Given the description of an element on the screen output the (x, y) to click on. 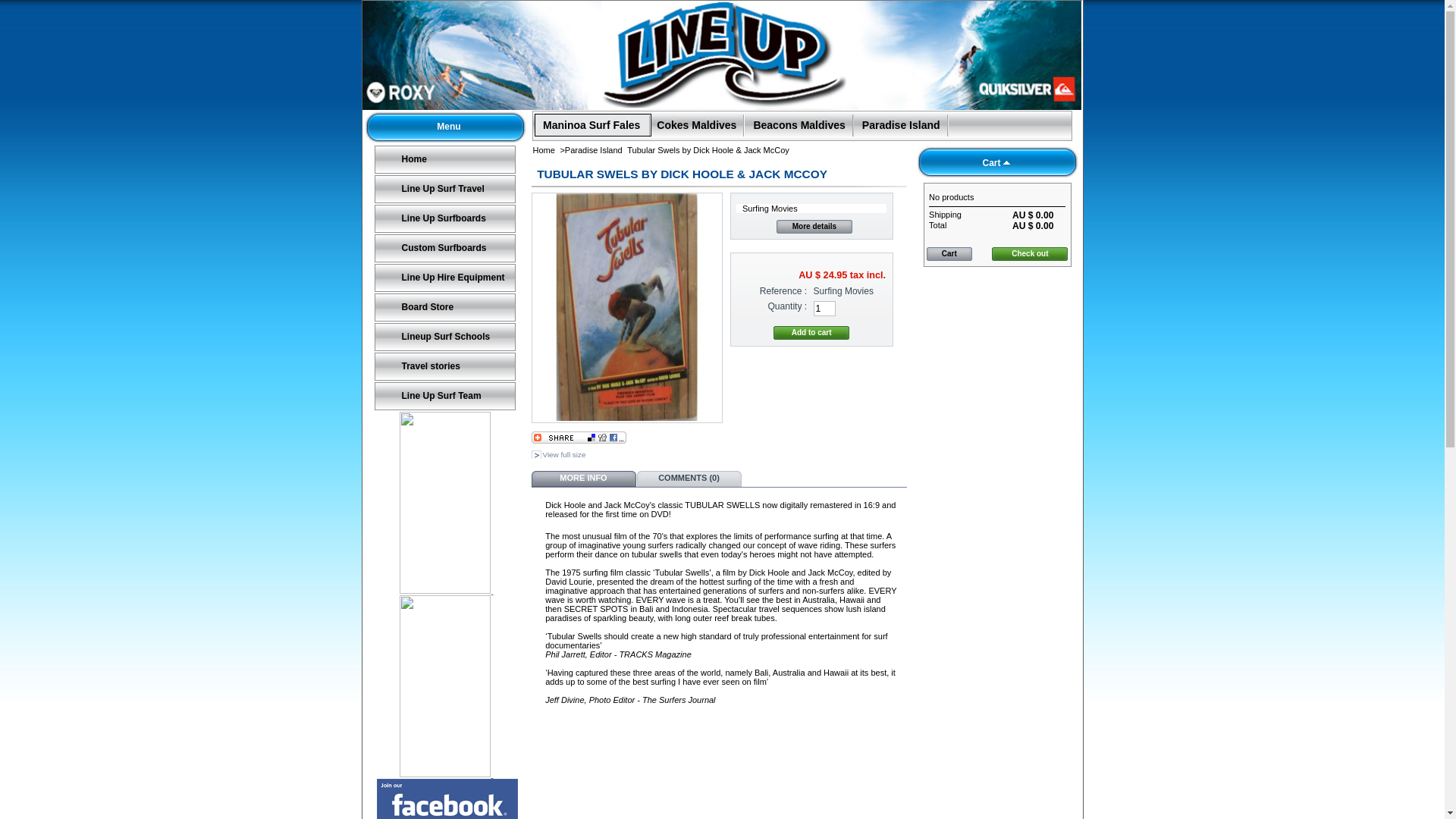
Line Up Surf Travel Element type: text (444, 189)
Cokes Maldives Element type: text (696, 130)
Custom Surfboards Element type: text (444, 248)
Home Element type: text (543, 149)
Line Up Surfboards Element type: text (444, 218)
Lineup Surf Schools Element type: text (444, 337)
Board Store Element type: text (444, 307)
MORE INFO Element type: text (582, 478)
Add to cart Element type: text (811, 332)
Home Element type: text (444, 159)
Line Up Surf Team Element type: text (444, 396)
Line Up Hire Equipment Element type: text (444, 277)
Paradise Island Element type: text (901, 130)
Cart Element type: text (991, 162)
Cart Element type: text (949, 253)
Check out Element type: text (1029, 253)
Tubular Swels by Dick Hoole & Jack McCoy Element type: hover (626, 306)
Travel stories Element type: text (444, 366)
Maninoa Surf Fales Element type: text (591, 130)
Beacons Maldives Element type: text (798, 130)
COMMENTS (0) Element type: text (689, 478)
More details Element type: text (814, 226)
